Given the description of an element on the screen output the (x, y) to click on. 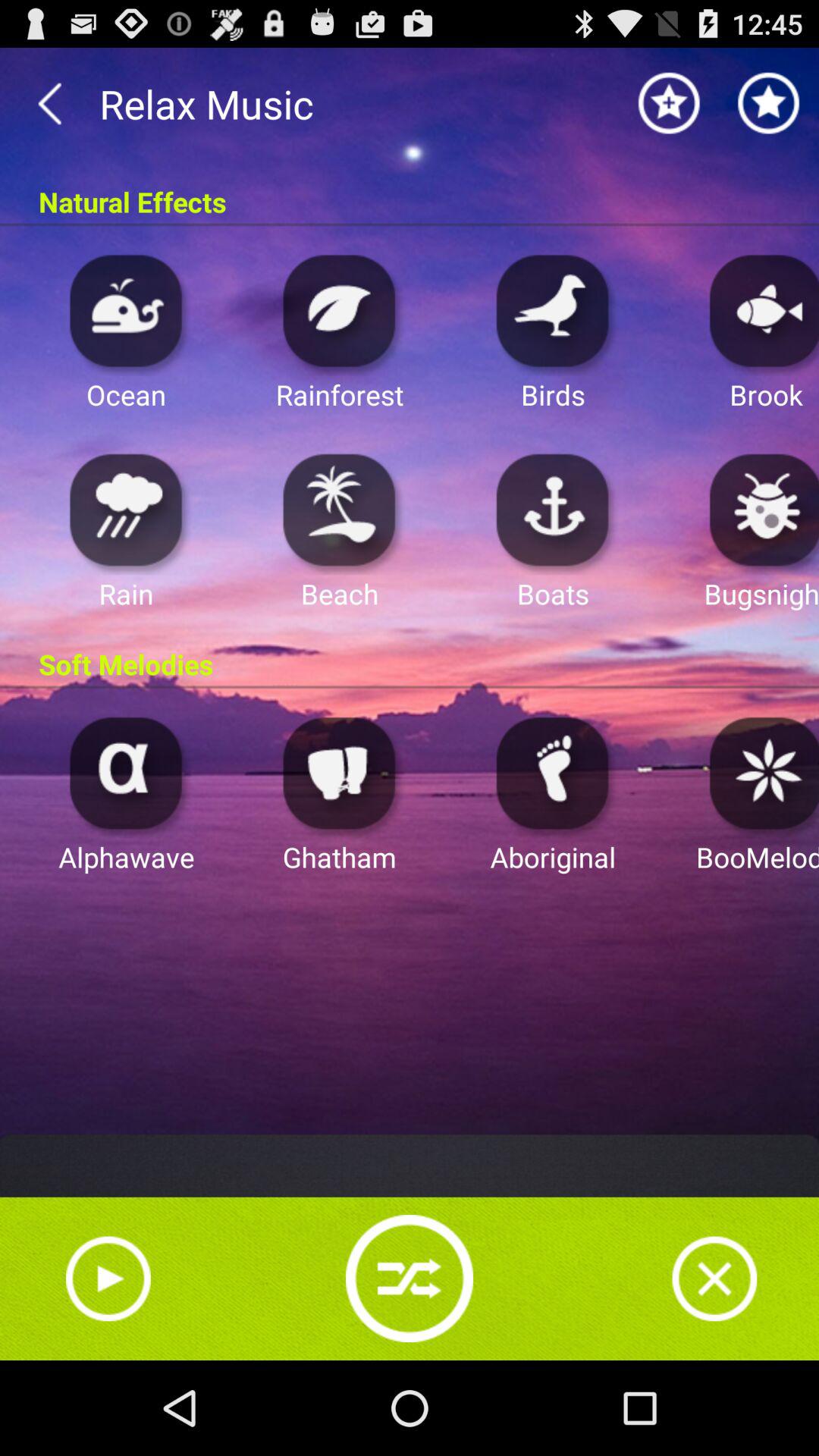
play alphawave melody (126, 772)
